Given the description of an element on the screen output the (x, y) to click on. 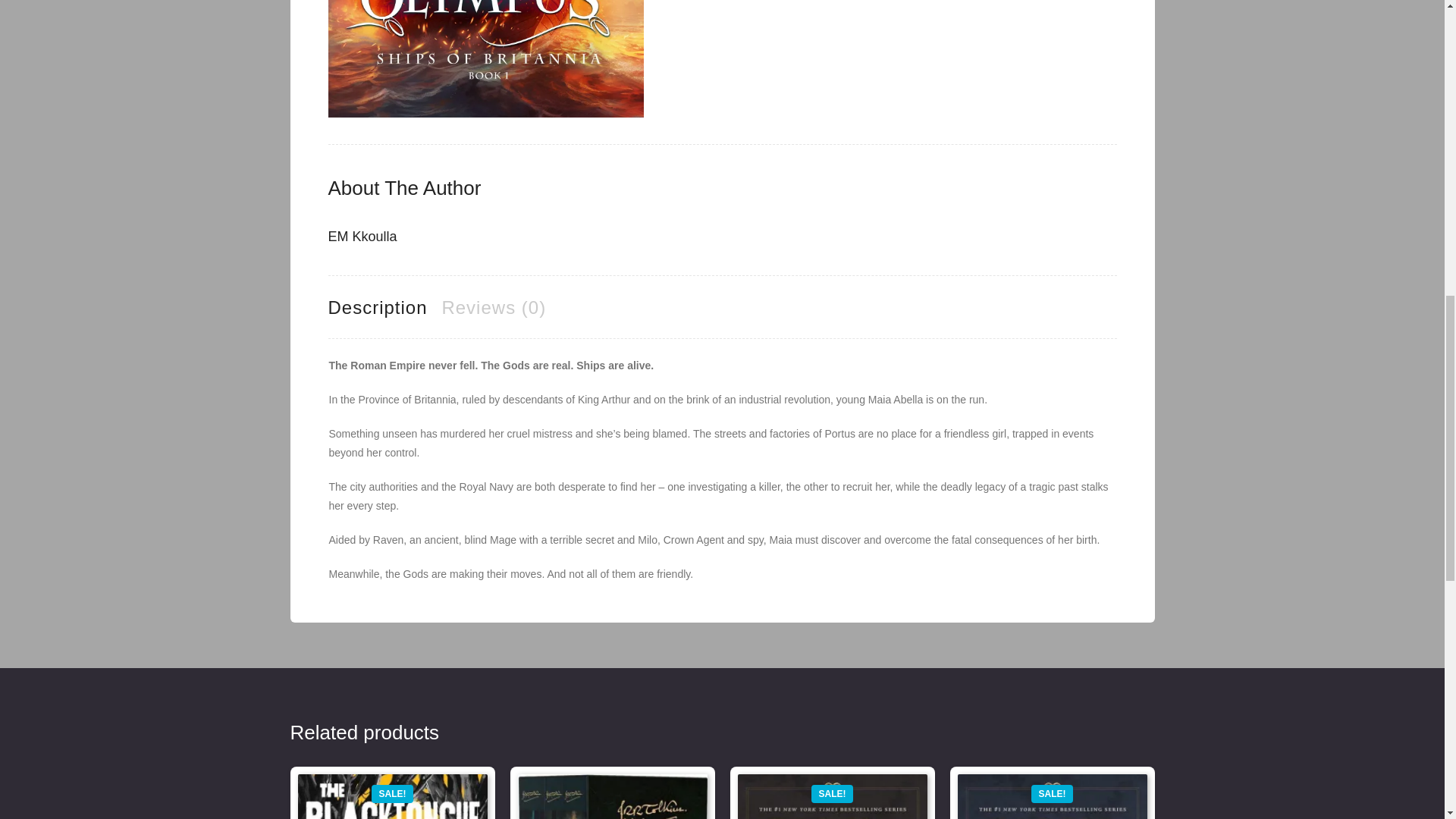
Description (376, 307)
Wrath of Olympus (485, 58)
